Given the description of an element on the screen output the (x, y) to click on. 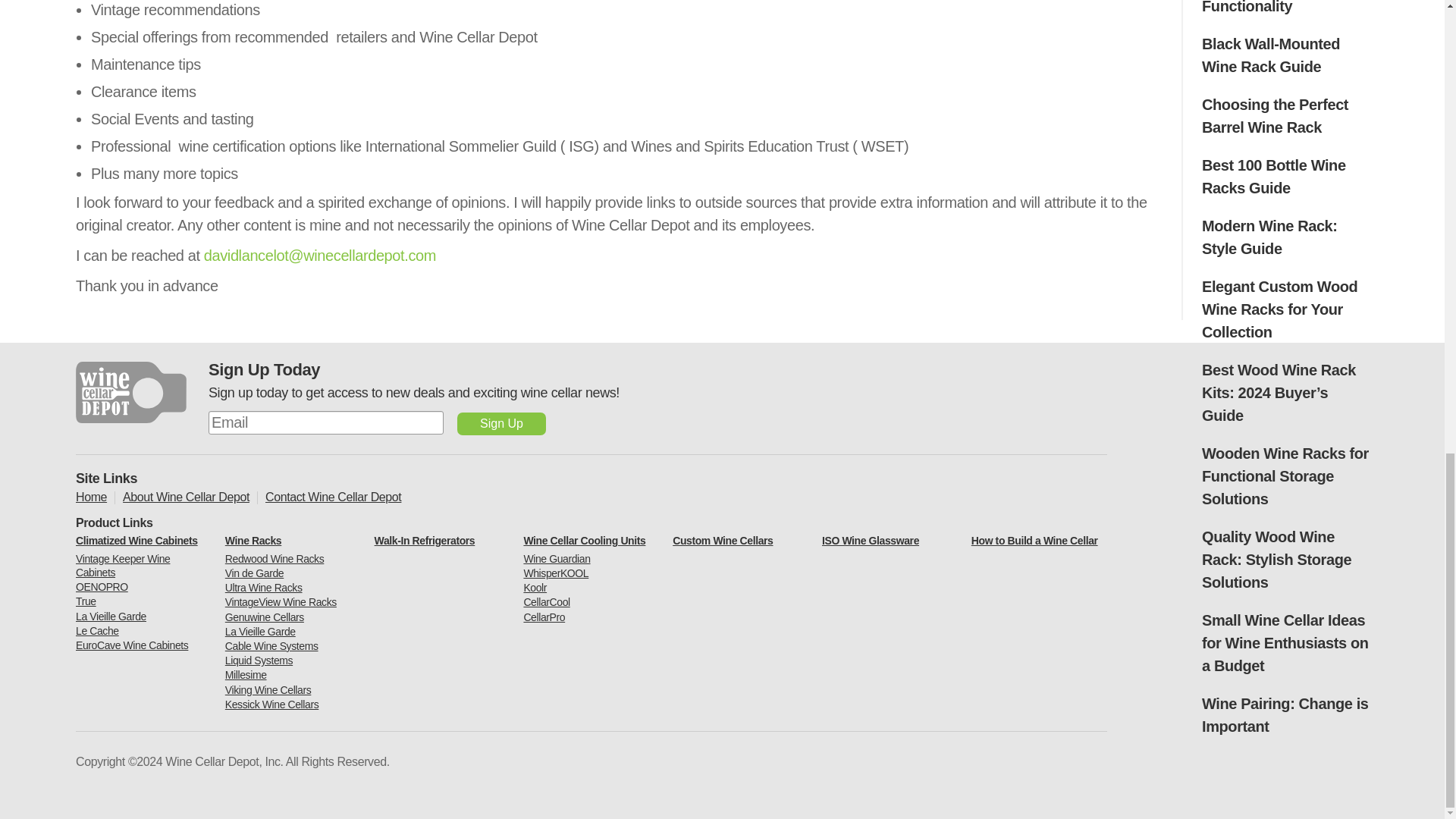
Floating Wine Rack: A Perfect Blend of Functionality (1278, 7)
Choosing the Perfect Barrel Wine Rack (1275, 115)
Black Wall-Mounted Wine Rack Guide (1270, 55)
Elegant Custom Wood Wine Racks for Your Collection (1279, 309)
Quality Wood Wine Rack: Stylish Storage Solutions (1276, 559)
Wine Pairing: Change is Important (1285, 714)
Best 100 Bottle Wine Racks Guide (1273, 176)
Modern Wine Rack: Style Guide (1270, 237)
Floating Wine Rack: A Perfect Blend of Functionality (1278, 7)
Black Wall-Mounted Wine Rack Guide (1270, 55)
